Given the description of an element on the screen output the (x, y) to click on. 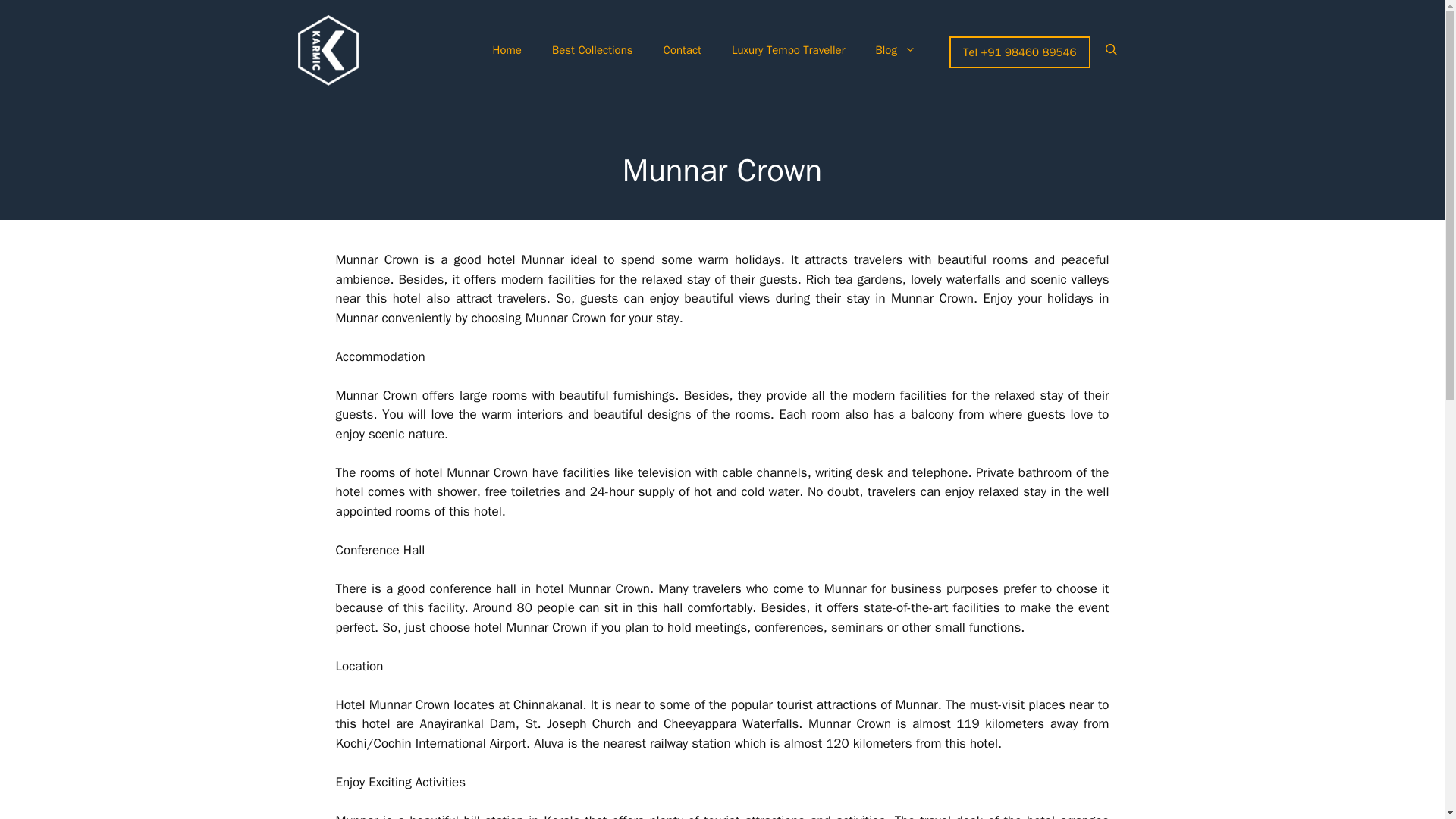
Best Collections (592, 49)
Contact (681, 49)
Luxury Tempo Traveller (788, 49)
Blog (895, 49)
Home (507, 49)
